Given the description of an element on the screen output the (x, y) to click on. 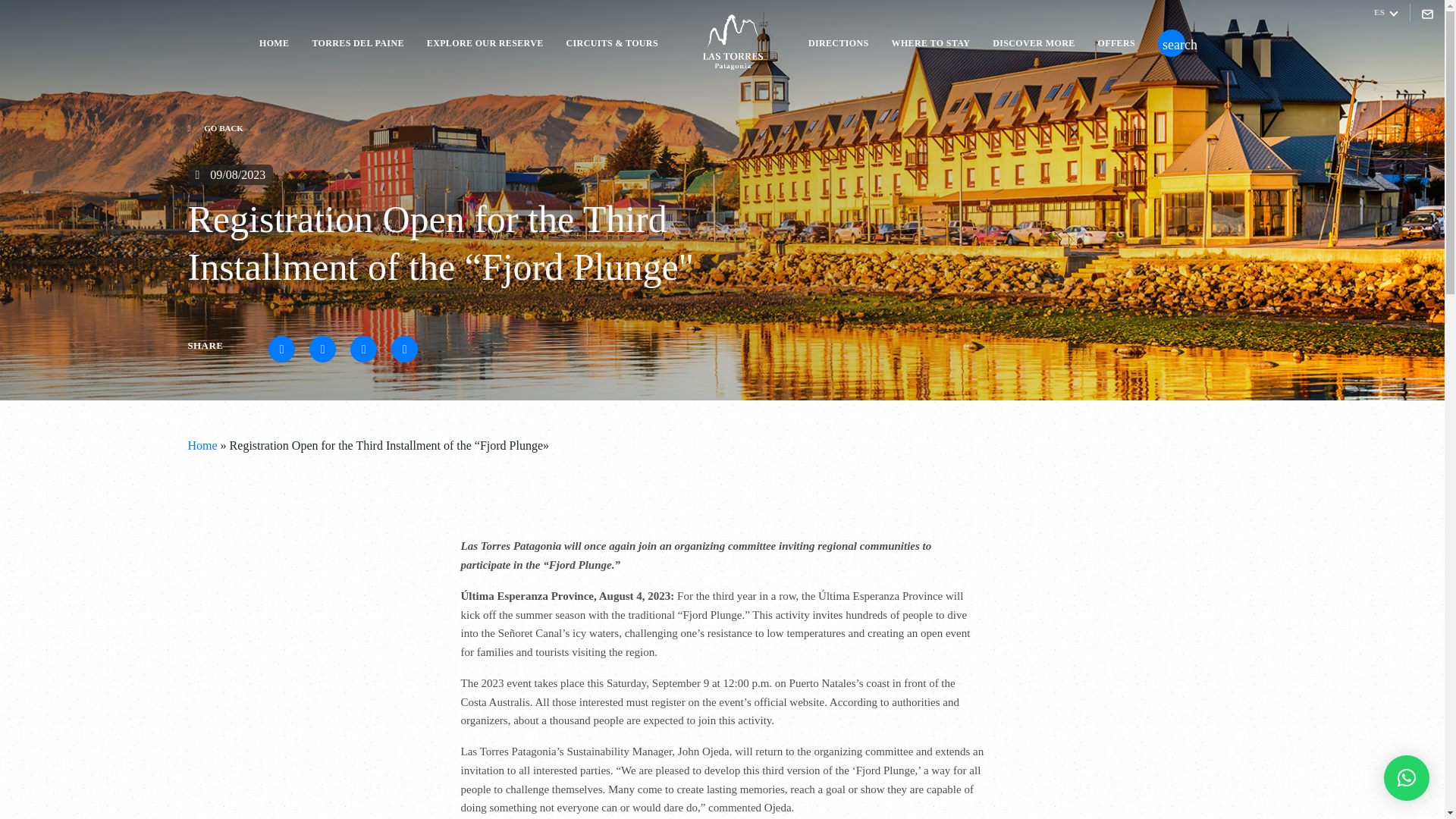
DISCOVER MORE (1033, 42)
TORRES DEL PAINE (357, 42)
WHERE TO STAY (931, 42)
search (1171, 42)
EXPLORE OUR RESERVE (484, 42)
DIRECTIONS (838, 42)
HOME (273, 42)
OFFERS (1116, 42)
GO BACK (449, 128)
